Given the description of an element on the screen output the (x, y) to click on. 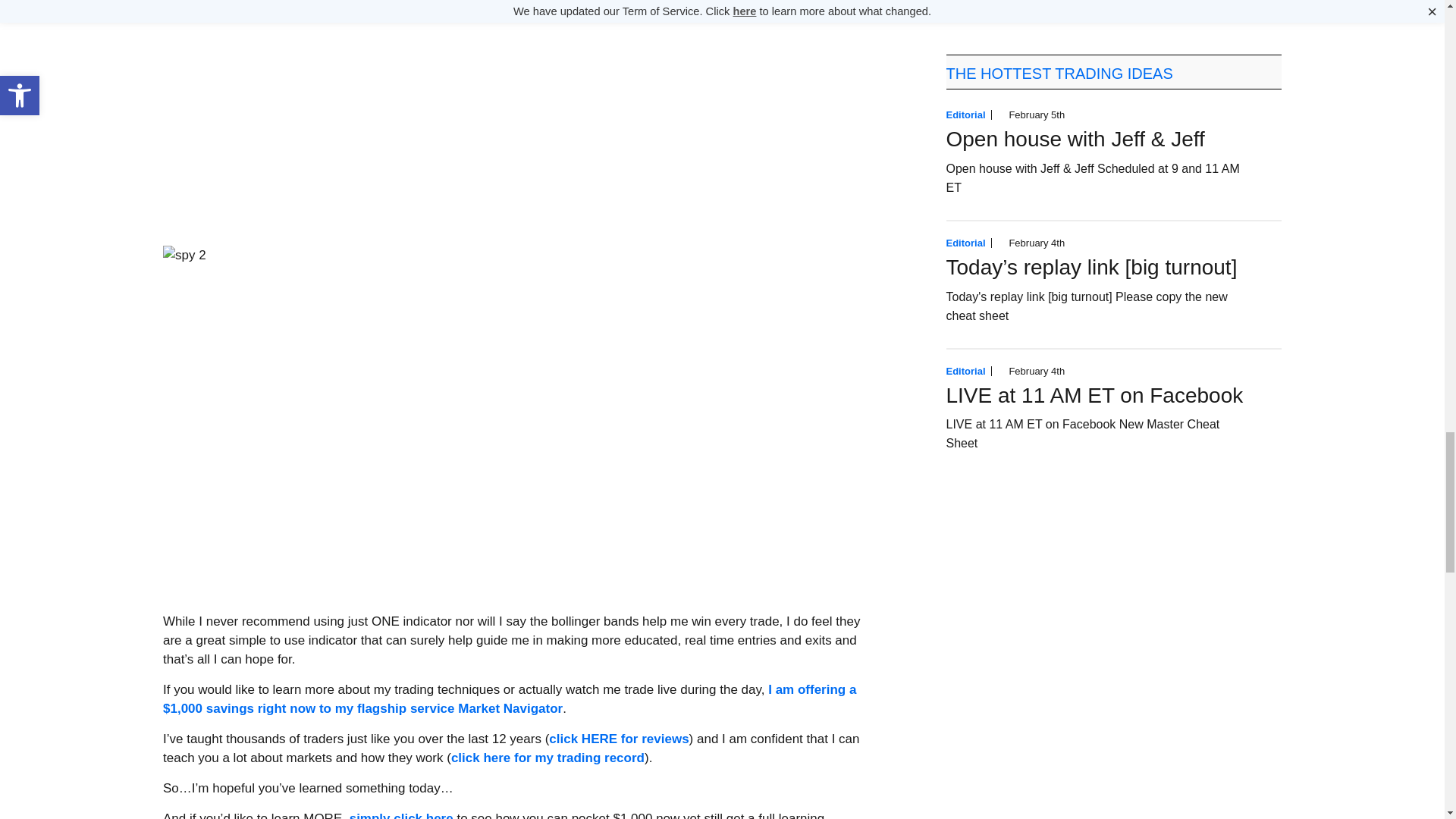
click HERE for reviews (618, 739)
simply click here (400, 815)
click here for my trading record (548, 757)
